Given the description of an element on the screen output the (x, y) to click on. 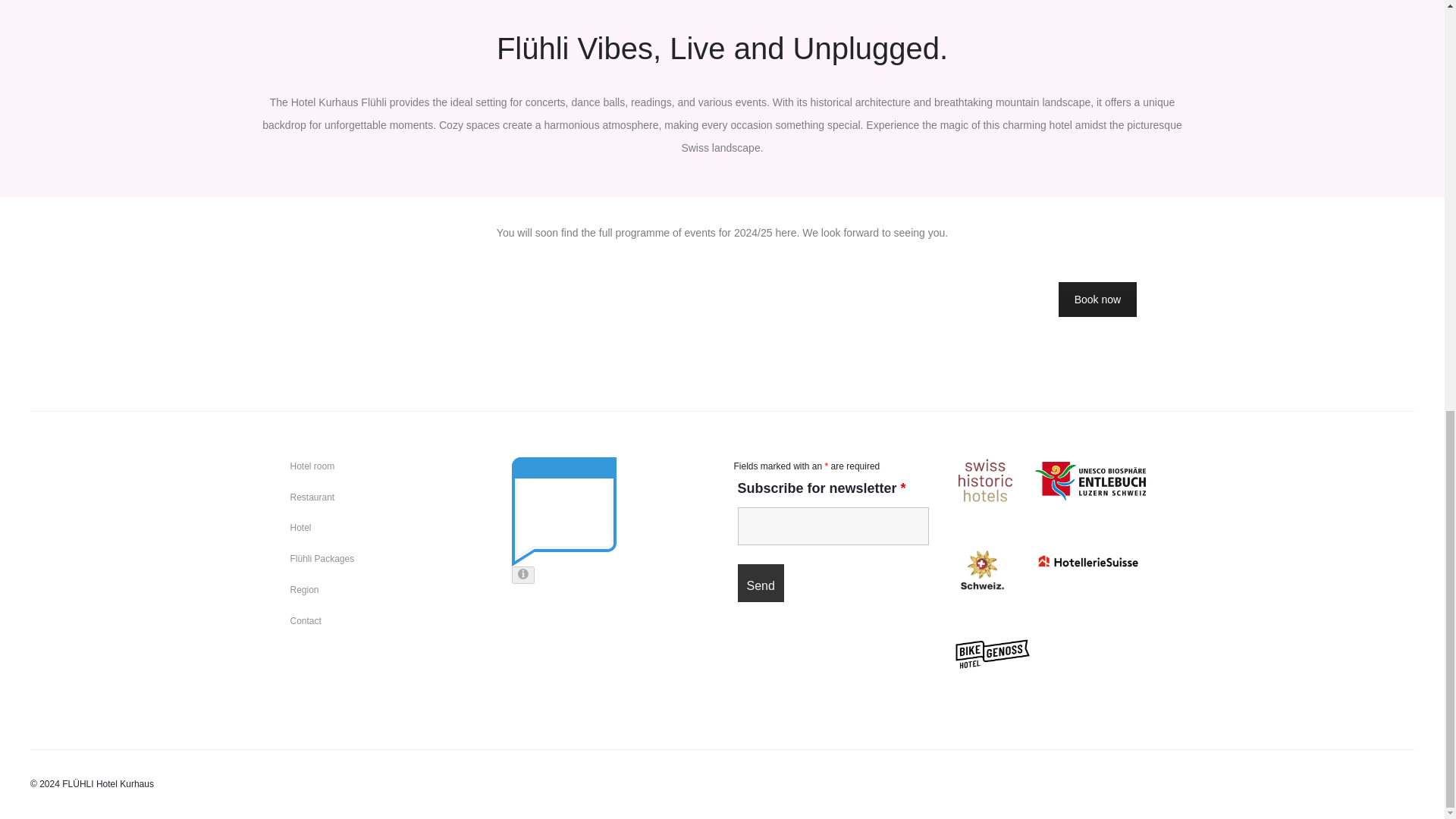
Book now (1097, 298)
Restaurant (311, 497)
Contact (304, 620)
Region (303, 589)
Send (759, 582)
Send (759, 582)
Hotel room (311, 466)
Hotel (300, 527)
